Given the description of an element on the screen output the (x, y) to click on. 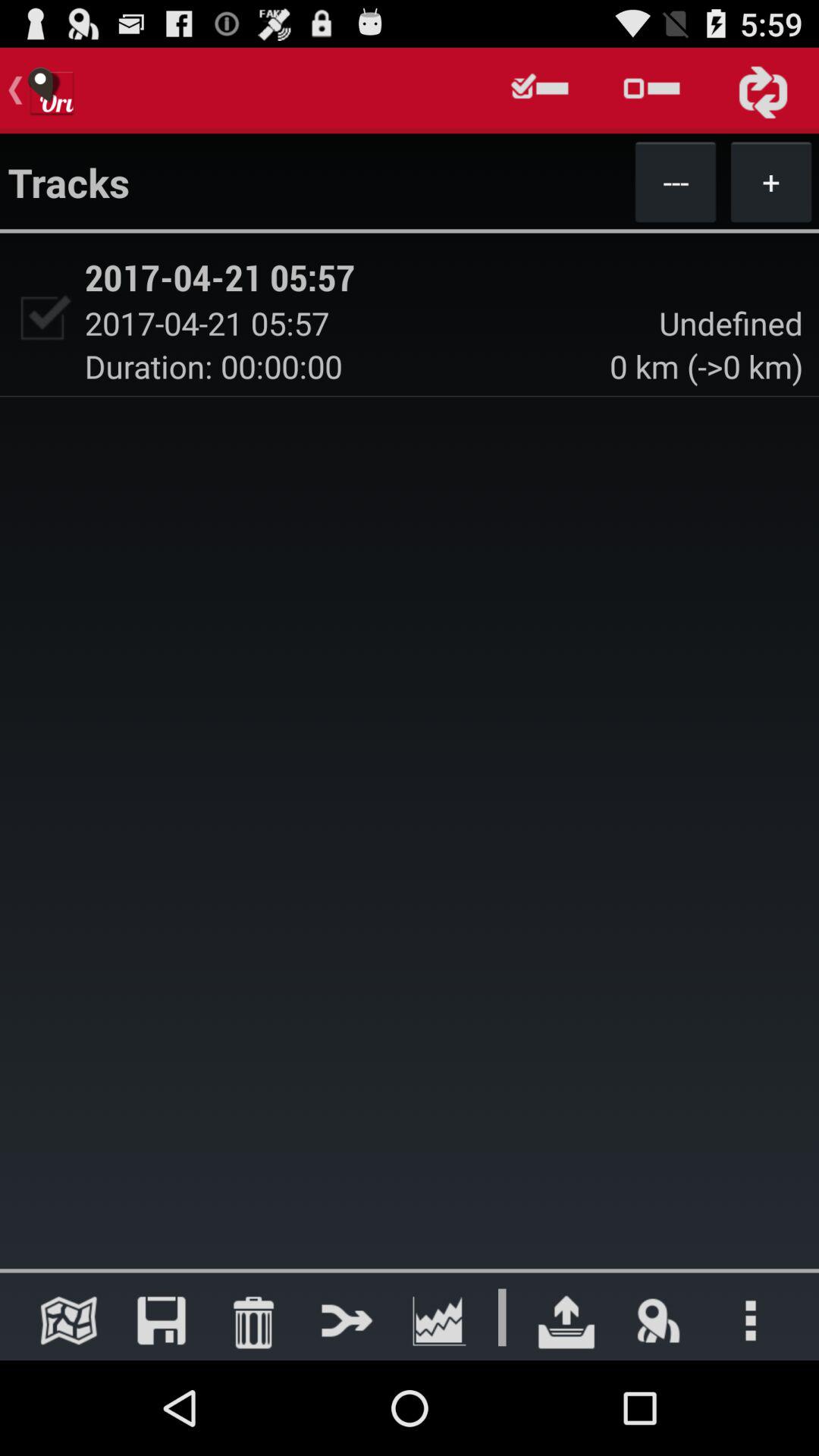
open graphs (437, 1320)
